Given the description of an element on the screen output the (x, y) to click on. 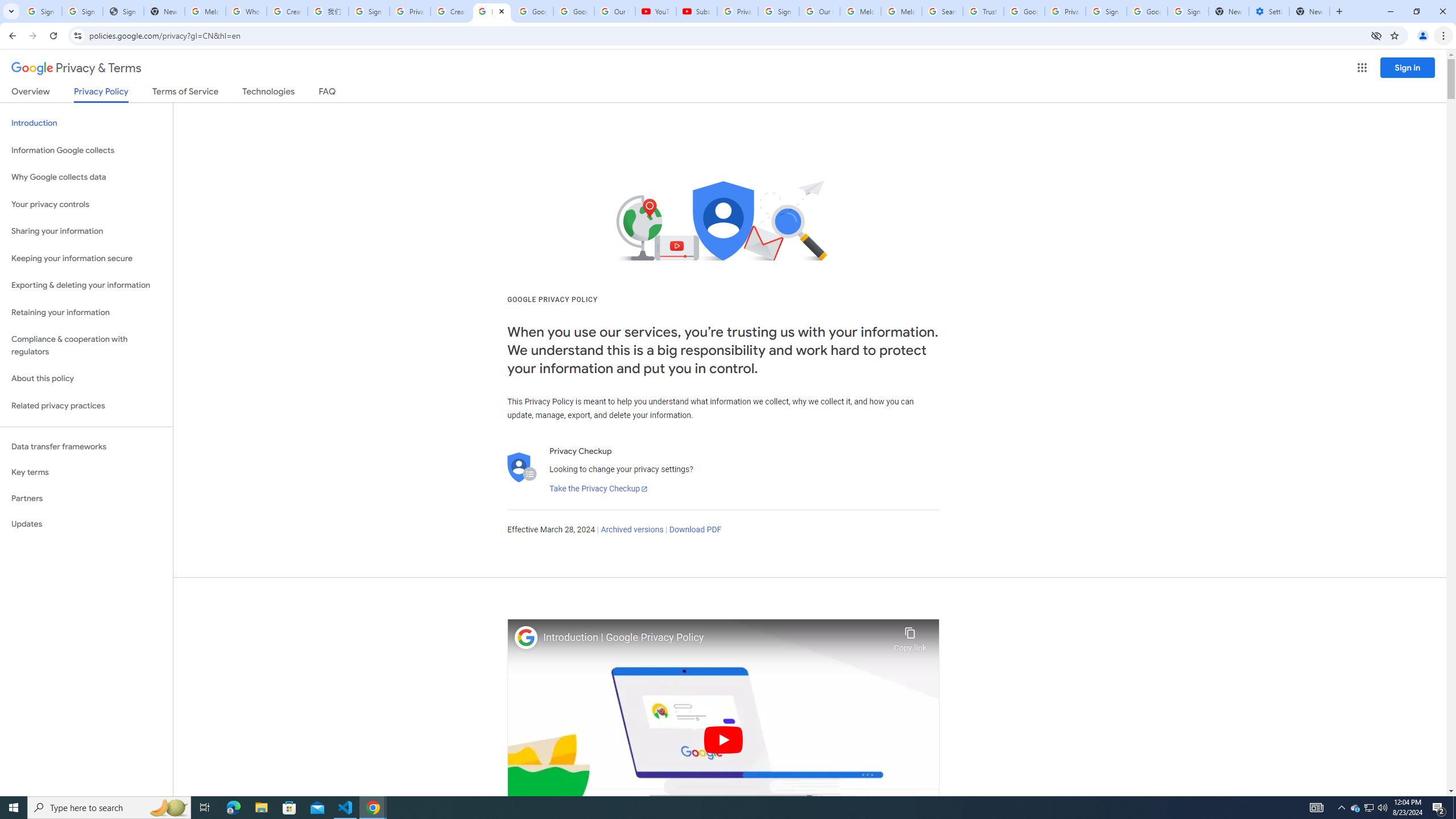
Who is my administrator? - Google Account Help (246, 11)
Sign in - Google Accounts (81, 11)
Data transfer frameworks (86, 446)
Sign in - Google Accounts (368, 11)
Compliance & cooperation with regulators (86, 345)
